Given the description of an element on the screen output the (x, y) to click on. 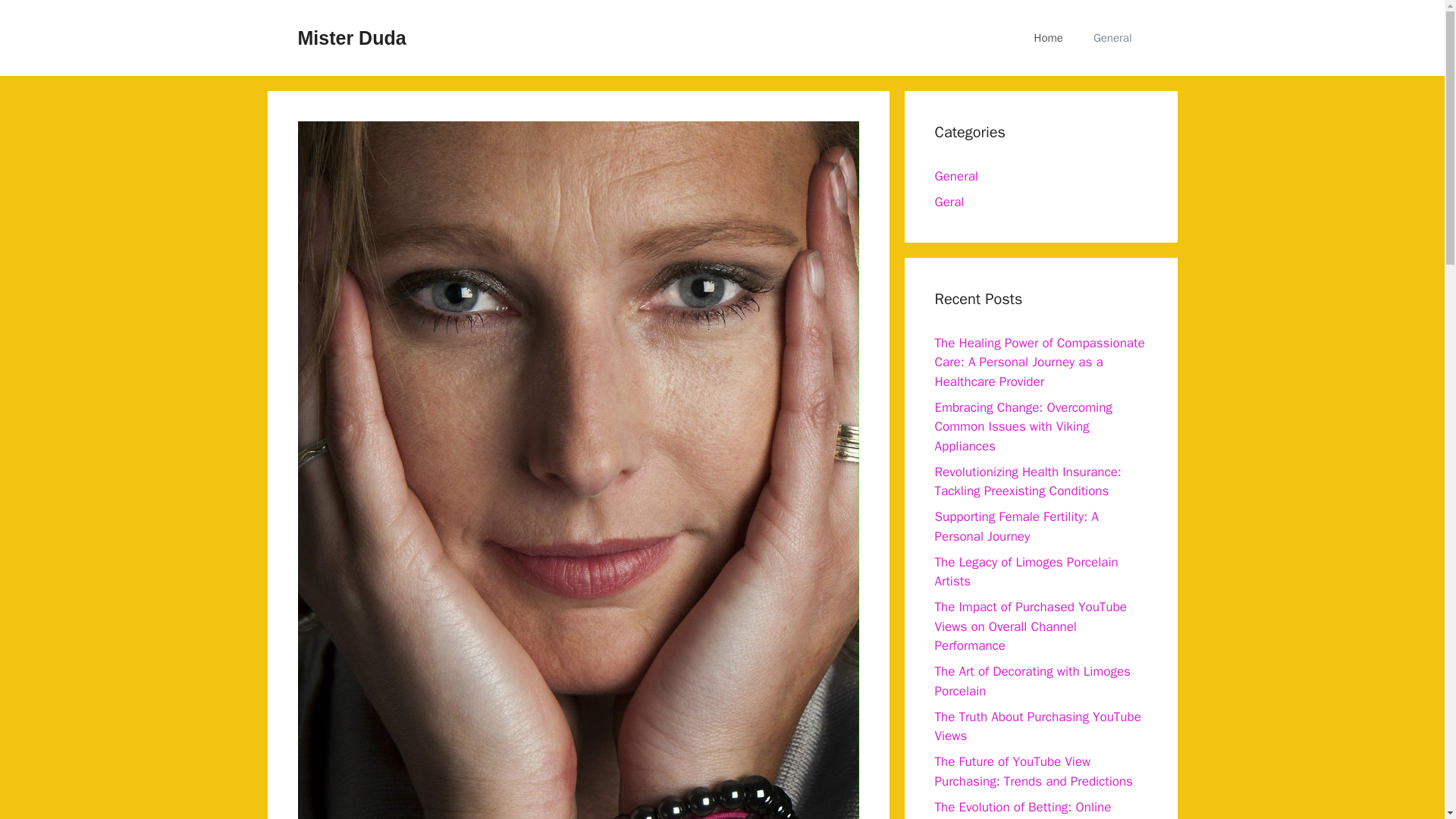
The Legacy of Limoges Porcelain Artists (1026, 570)
Home (1048, 37)
Mister Duda (351, 37)
Geral (948, 201)
The Art of Decorating with Limoges Porcelain (1031, 681)
Supporting Female Fertility: A Personal Journey (1015, 526)
General (1112, 37)
